Given the description of an element on the screen output the (x, y) to click on. 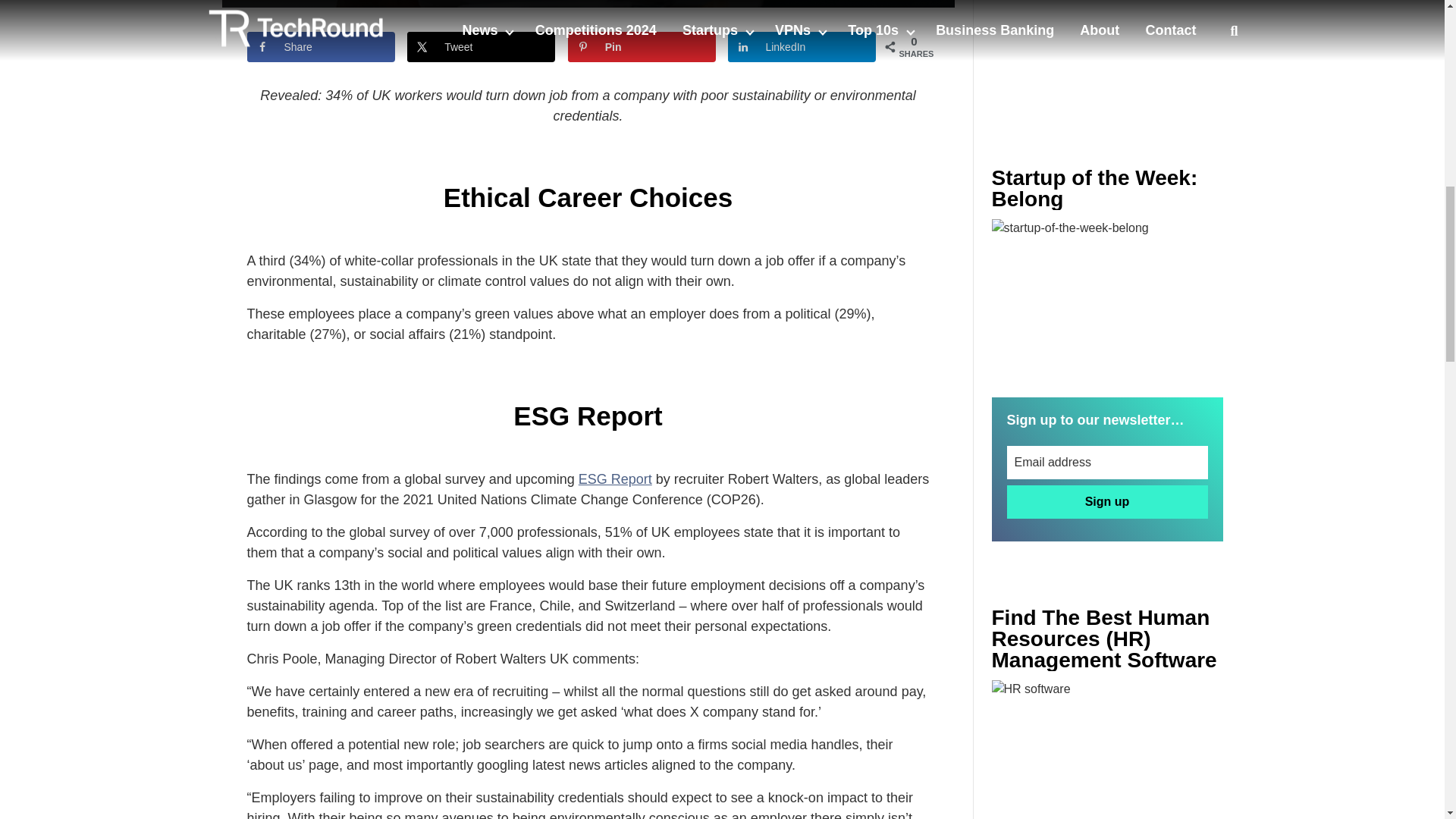
Share on X (480, 46)
Share on Facebook (320, 46)
Sign up (1107, 501)
Startup of the Week: Neon Link (1107, 296)
Save to Pinterest (641, 46)
Share on LinkedIn (802, 46)
Enter The BAME Top 50 Entrepreneurs - Deadline 10th Nov 2021 (1107, 749)
